Given the description of an element on the screen output the (x, y) to click on. 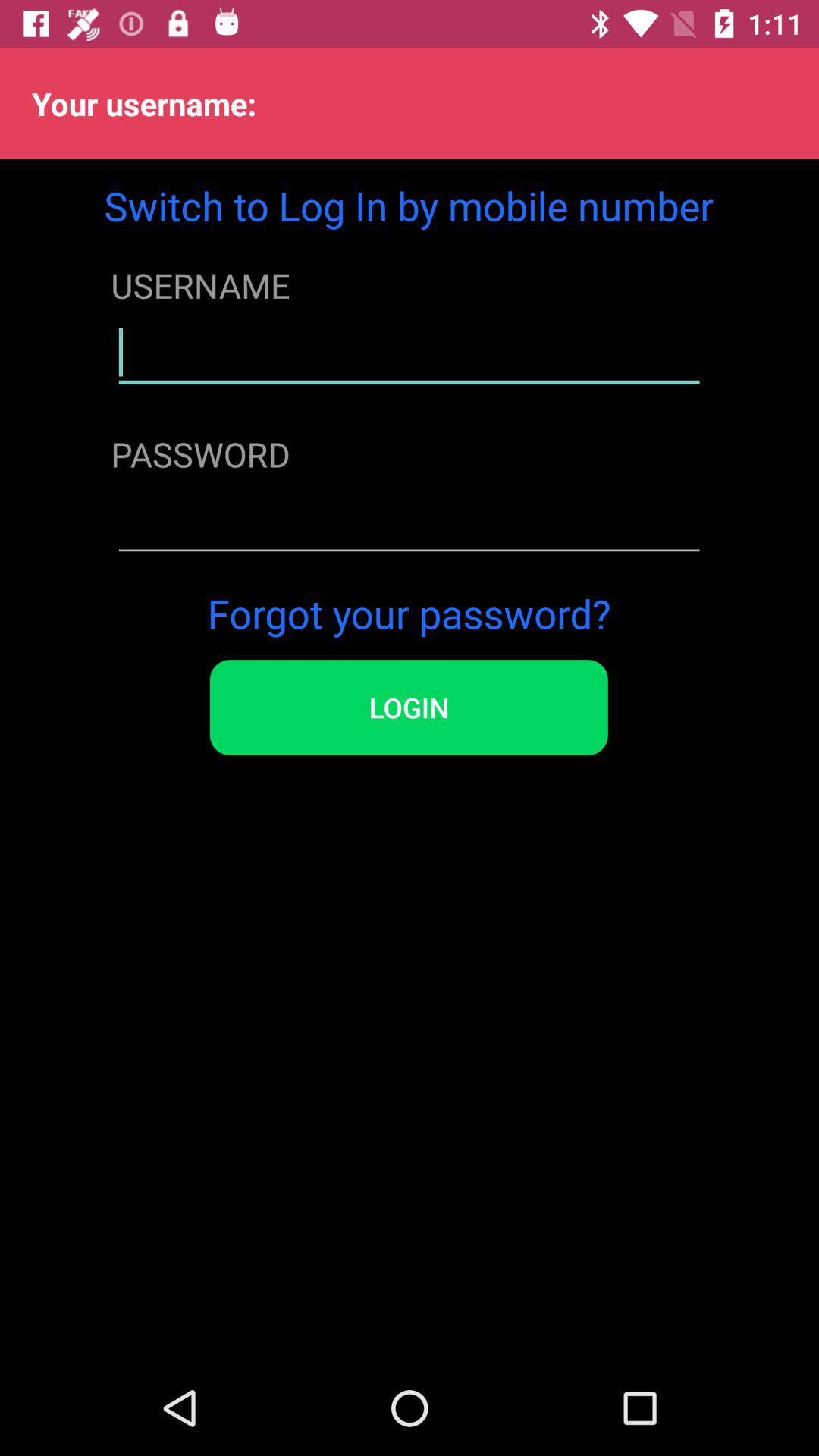
click icon above the username icon (408, 205)
